Given the description of an element on the screen output the (x, y) to click on. 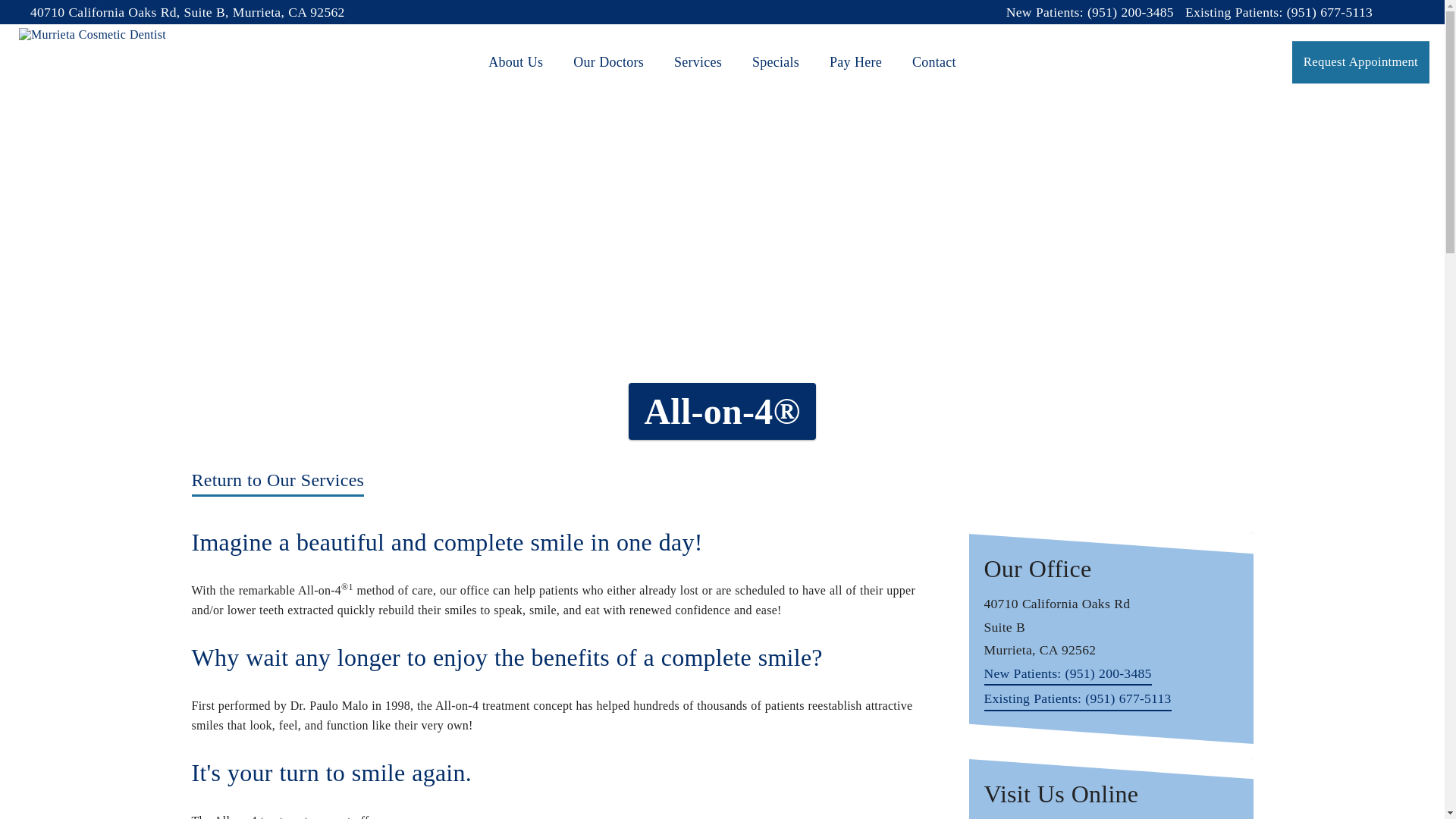
Request Appointment (1360, 61)
40710 California Oaks Rd, Suite B, Murrieta, CA 92562 (187, 12)
Return to Our Services (277, 483)
